Given the description of an element on the screen output the (x, y) to click on. 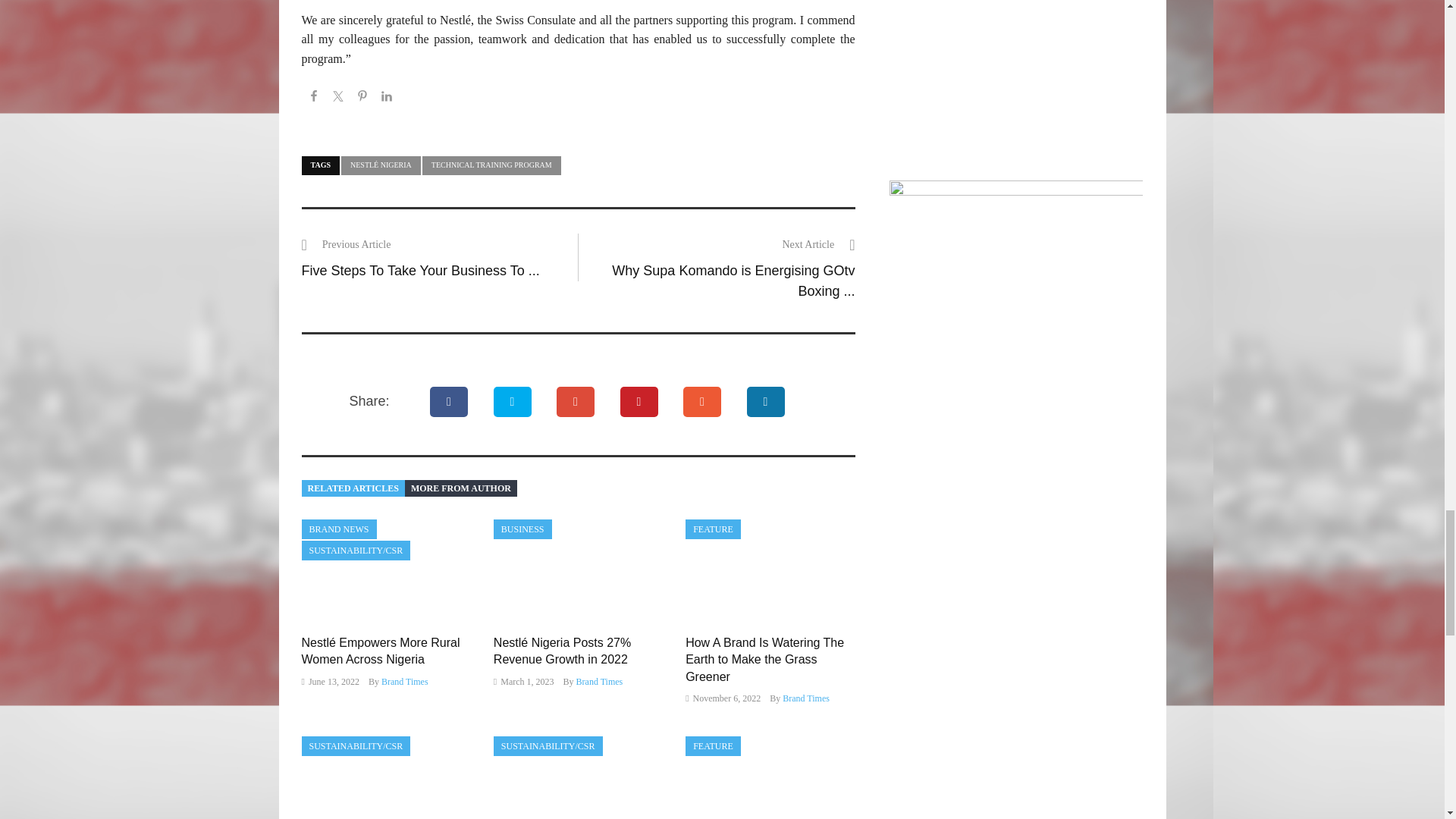
Share on Pinterest (362, 98)
Share on Facebook (313, 98)
Share on Twitter (338, 98)
Share on LinkedIn (386, 98)
